Given the description of an element on the screen output the (x, y) to click on. 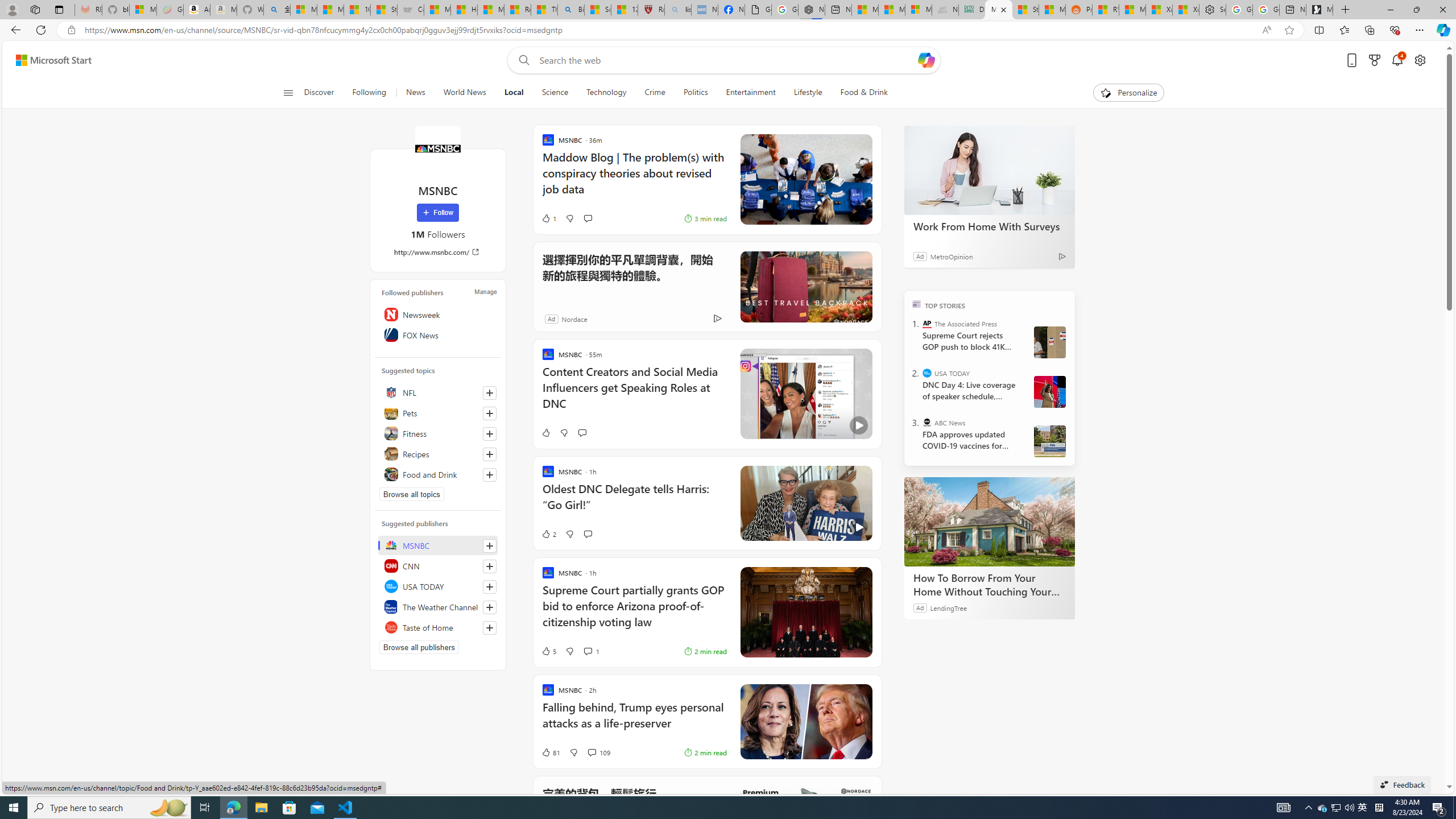
R******* | Trusted Community Engagement and Contributions (1105, 9)
Follow (437, 212)
Enter your search term (726, 59)
